Given the description of an element on the screen output the (x, y) to click on. 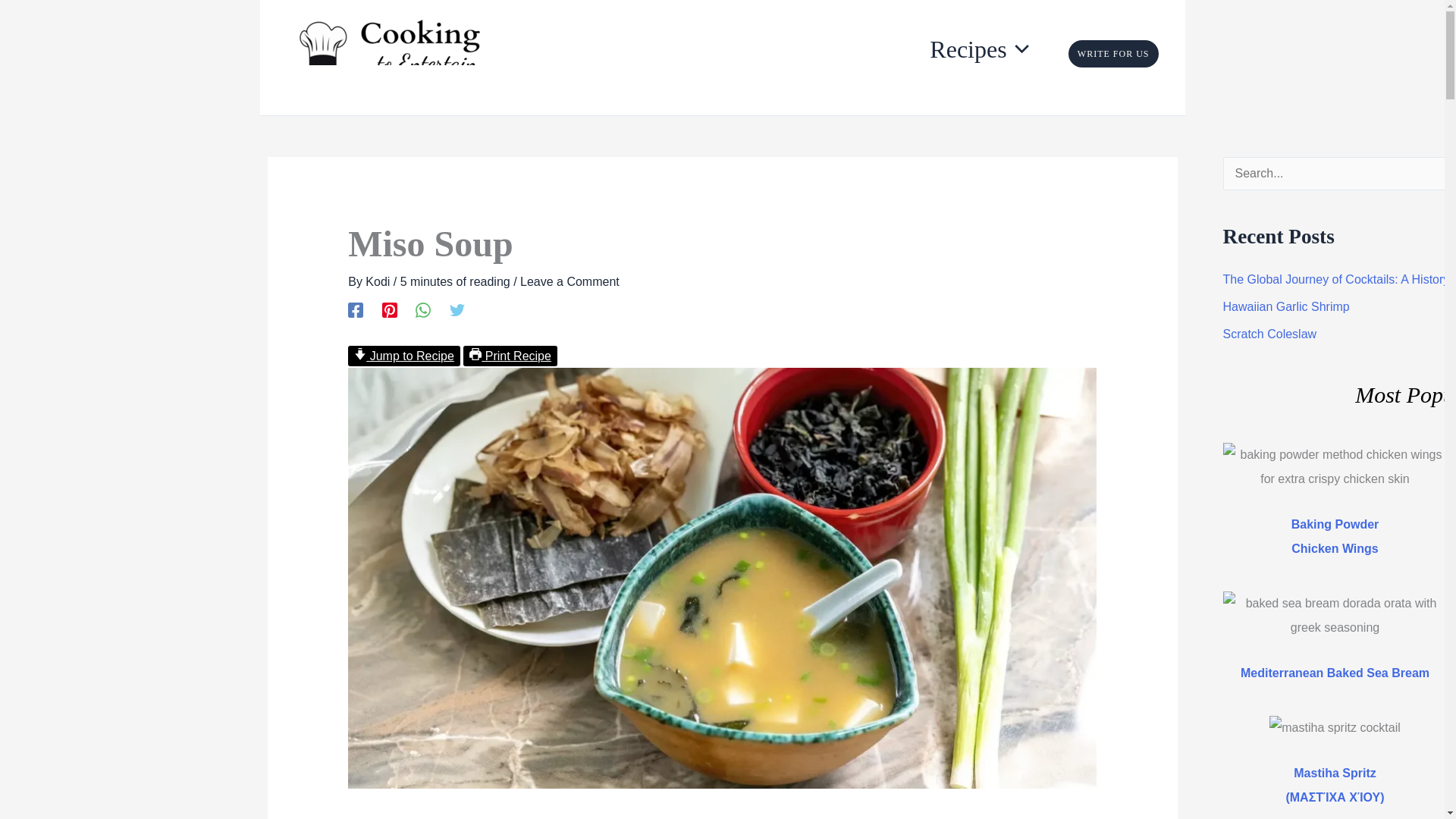
WRITE FOR US (1113, 53)
Recipes (990, 39)
Leave a Comment (569, 281)
Kodi (379, 281)
Print Recipe (510, 355)
Jump to Recipe (403, 355)
View all posts by Kodi (379, 281)
